Given the description of an element on the screen output the (x, y) to click on. 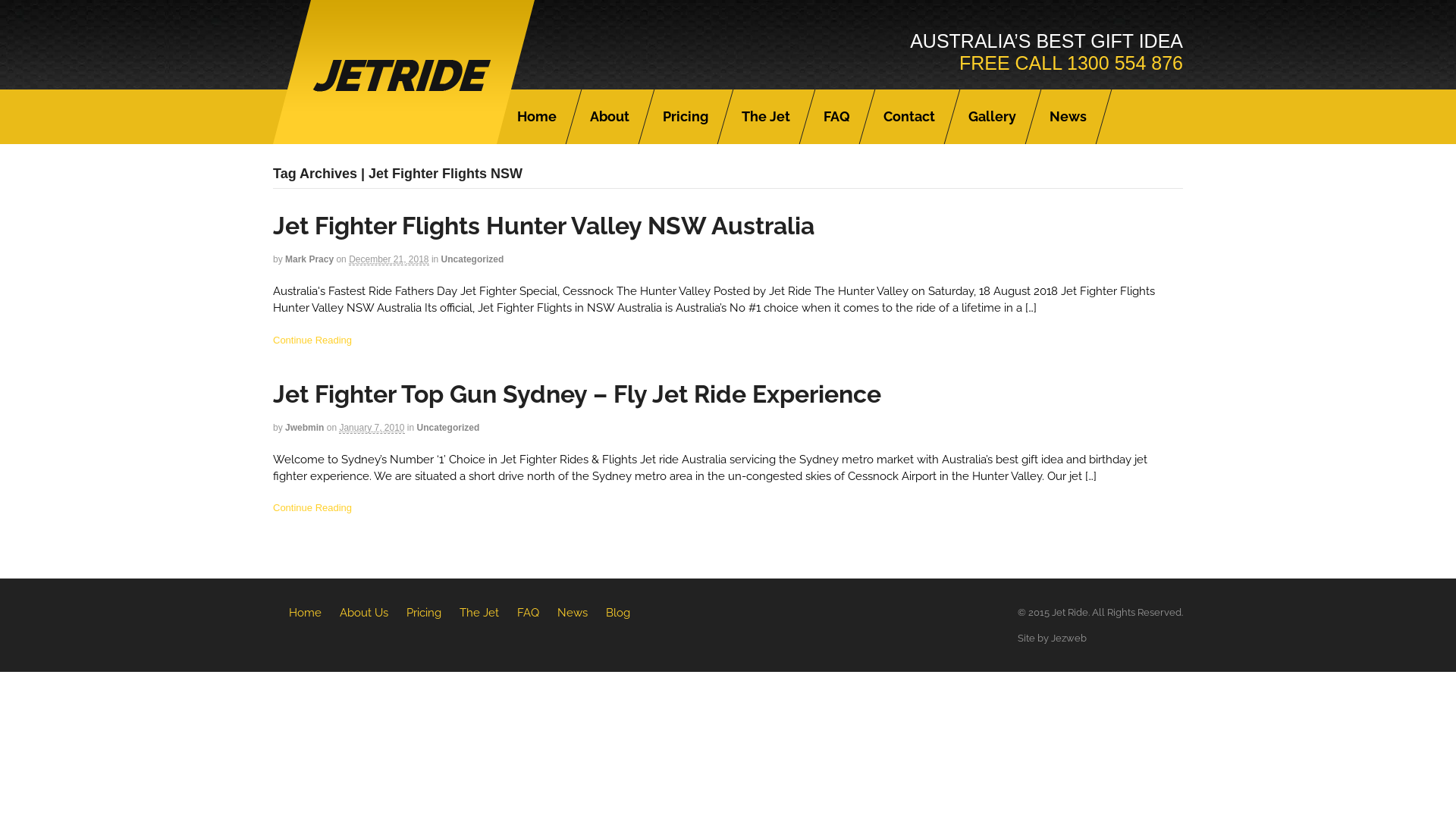
Blog Element type: text (617, 612)
Pricing Element type: text (423, 612)
Continue Reading Element type: text (312, 507)
Pricing Element type: text (685, 116)
FREE CALL 1300 554 876 Element type: text (1071, 62)
Gallery Element type: text (991, 116)
Jwebmin Element type: text (304, 427)
FAQ Element type: text (836, 116)
The Jet Element type: text (765, 116)
Home Element type: text (536, 116)
Contact Element type: text (908, 116)
Continue Reading Element type: text (312, 339)
Jet Fighter Flights Hunter Valley NSW Australia Element type: text (543, 225)
News Element type: text (1067, 116)
News Element type: text (572, 612)
The Jet Element type: text (478, 612)
Uncategorized Element type: text (448, 427)
Mark Pracy Element type: text (309, 259)
Uncategorized Element type: text (472, 259)
About Us Element type: text (363, 612)
About Element type: text (609, 116)
jflight Element type: hover (403, 135)
FAQ Element type: text (528, 612)
Home Element type: text (304, 612)
